Given the description of an element on the screen output the (x, y) to click on. 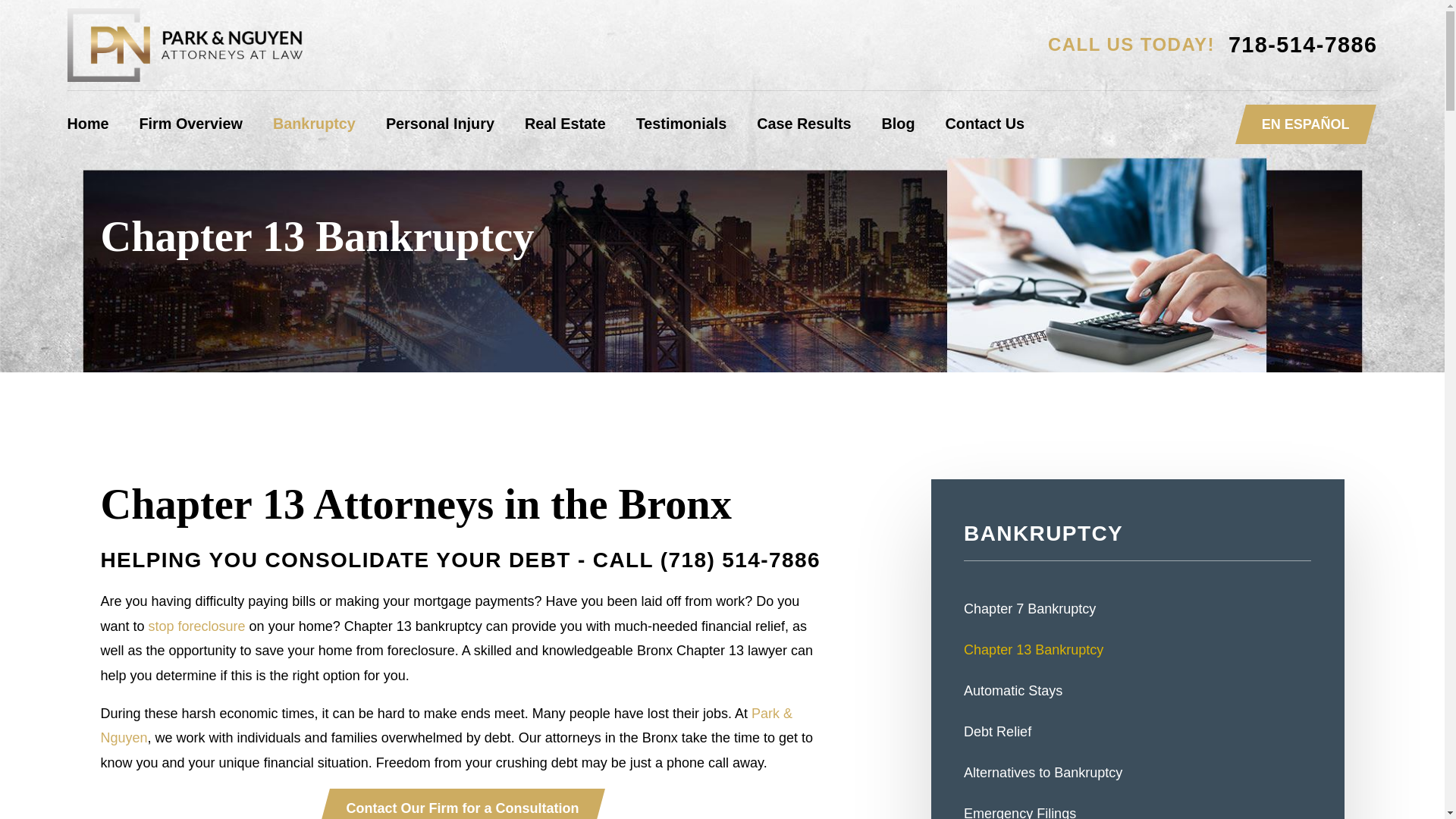
Firm Overview (191, 124)
718-514-7886 (1302, 45)
Bankruptcy (314, 124)
Personal Injury (440, 124)
Home (86, 124)
Home (183, 44)
